Given the description of an element on the screen output the (x, y) to click on. 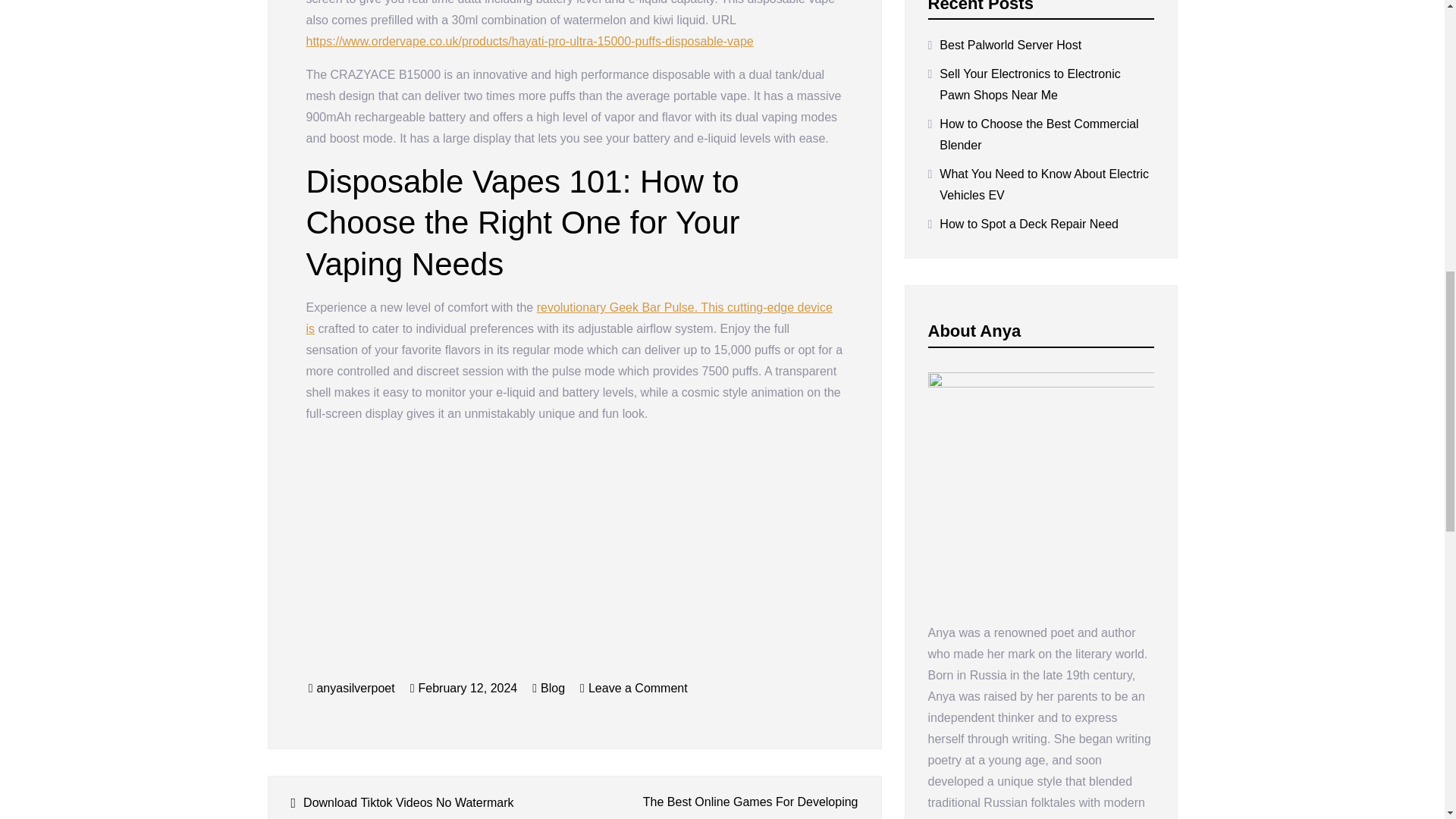
The Best Online Games For Developing Problem-Solving Skills (724, 805)
What You Need to Know About Electric Vehicles EV (1046, 184)
How to Spot a Deck Repair Need (1028, 224)
Sell Your Electronics to Electronic Pawn Shops Near Me (1046, 84)
February 12, 2024 (464, 687)
How to Choose the Best Commercial Blender (1046, 134)
Blog (552, 687)
Download Tiktok Videos No Watermark (423, 802)
anyasilverpoet (354, 687)
Best Palworld Server Host (1010, 45)
revolutionary Geek Bar Pulse. This cutting-edge device is (568, 317)
